Given the description of an element on the screen output the (x, y) to click on. 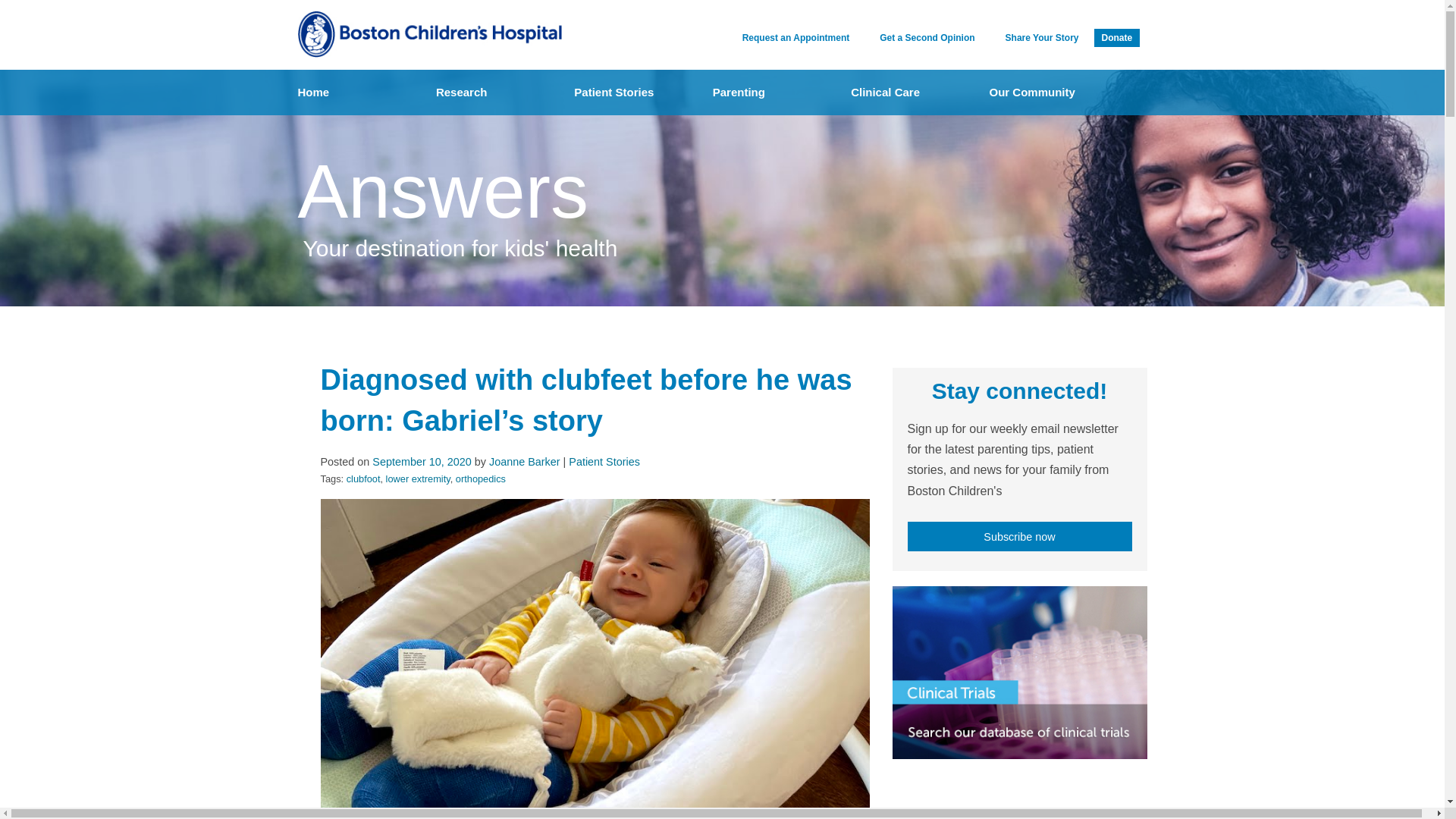
Patient Stories (635, 92)
lower extremity (417, 478)
Request an Appointment (788, 37)
Get a Second Opinion (919, 37)
Patient Stories (604, 461)
Parenting (773, 92)
Share Your Story (1034, 37)
Clinical Care (912, 92)
Our Community (1050, 92)
clubfoot (363, 478)
orthopedics (480, 478)
Joanne Barker (524, 461)
Donate (1116, 37)
September 10, 2020 (421, 461)
Posts by Joanne Barker (524, 461)
